Given the description of an element on the screen output the (x, y) to click on. 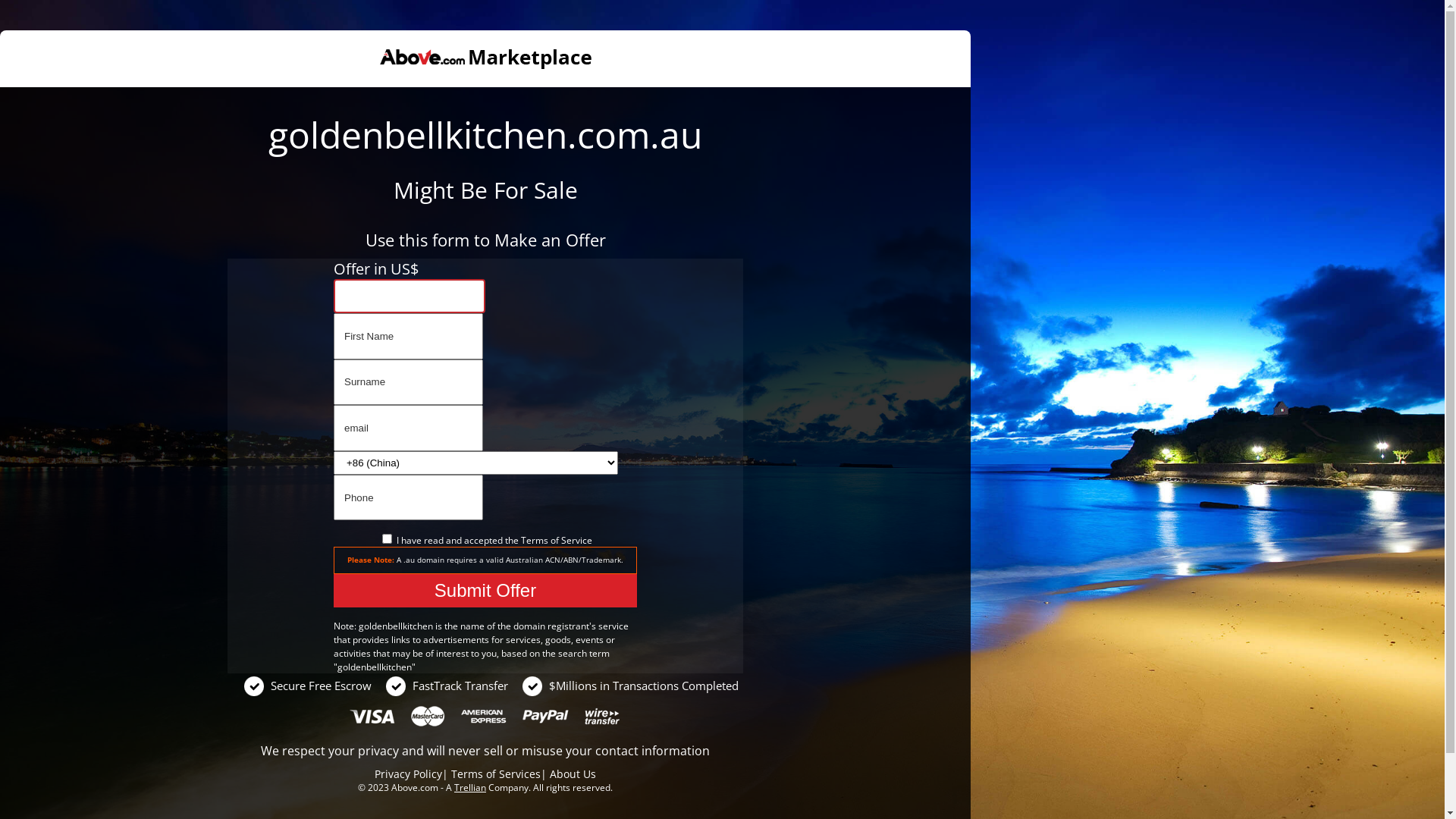
Terms Element type: text (533, 539)
Terms of Services Element type: text (495, 773)
Trellian Element type: text (470, 787)
Privacy Policy Element type: text (408, 773)
About Us Element type: text (572, 773)
Submit Offer Element type: text (485, 590)
